Given the description of an element on the screen output the (x, y) to click on. 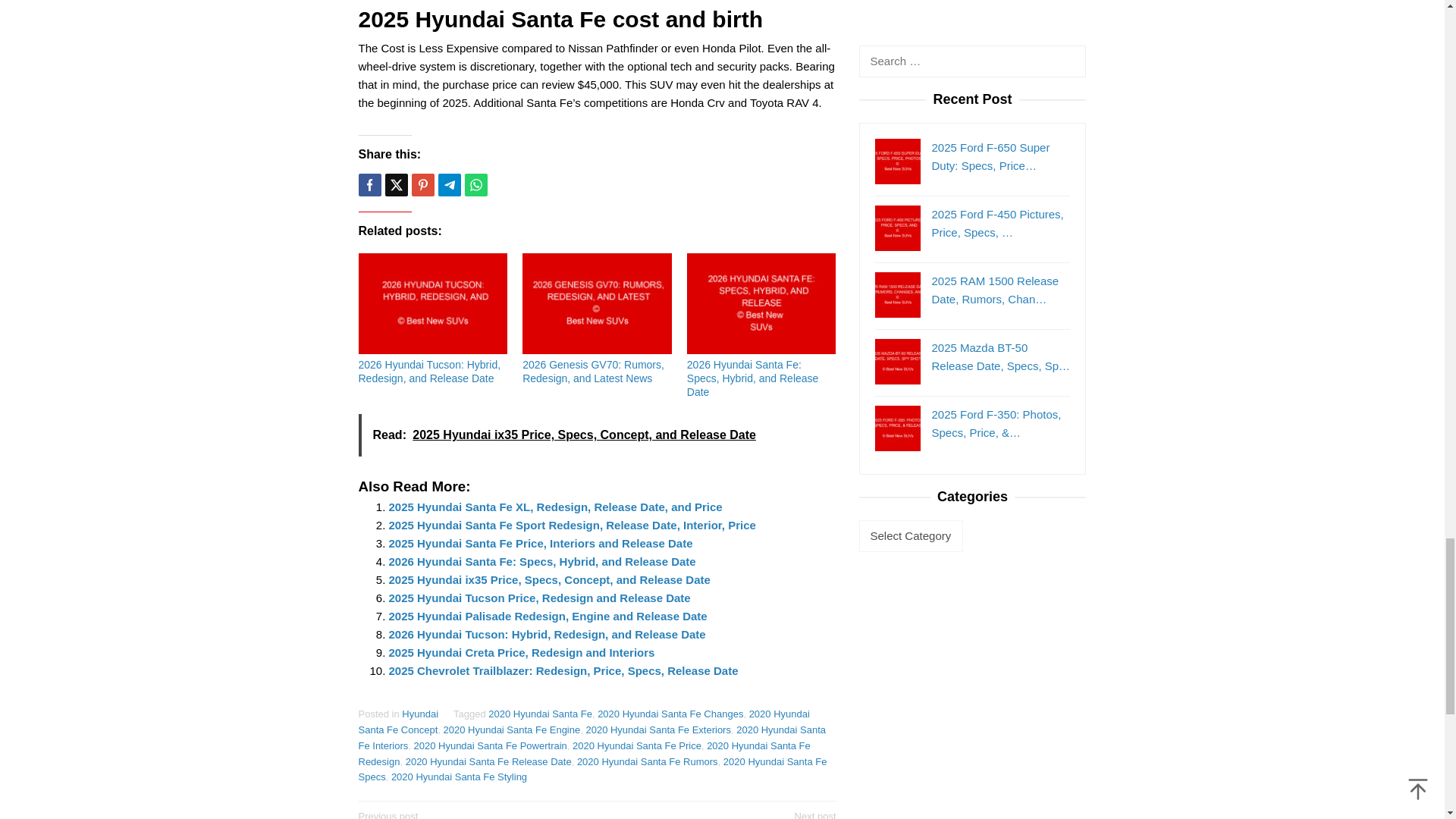
Tweet this (396, 184)
Share this (369, 184)
Pin this (421, 184)
Whatsapp (475, 184)
Telegram Share (449, 184)
